Given the description of an element on the screen output the (x, y) to click on. 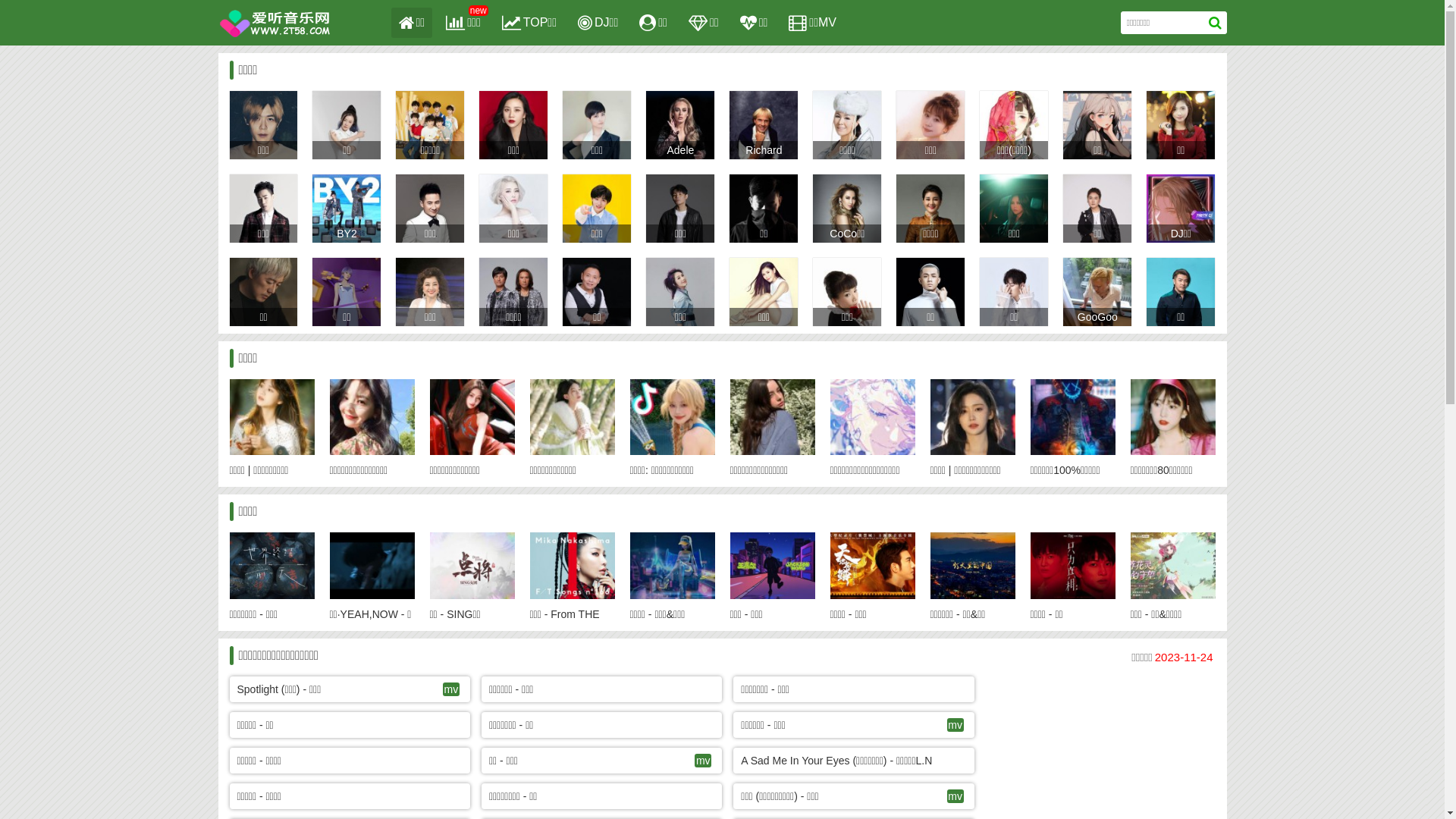
BY2 Element type: text (346, 233)
mv Element type: text (702, 760)
mv Element type: text (955, 724)
mv Element type: text (955, 796)
Adele Element type: text (680, 150)
GooGoo Element type: text (1097, 316)
Richard Clayderman Element type: text (763, 159)
mv Element type: text (450, 689)
